Given the description of an element on the screen output the (x, y) to click on. 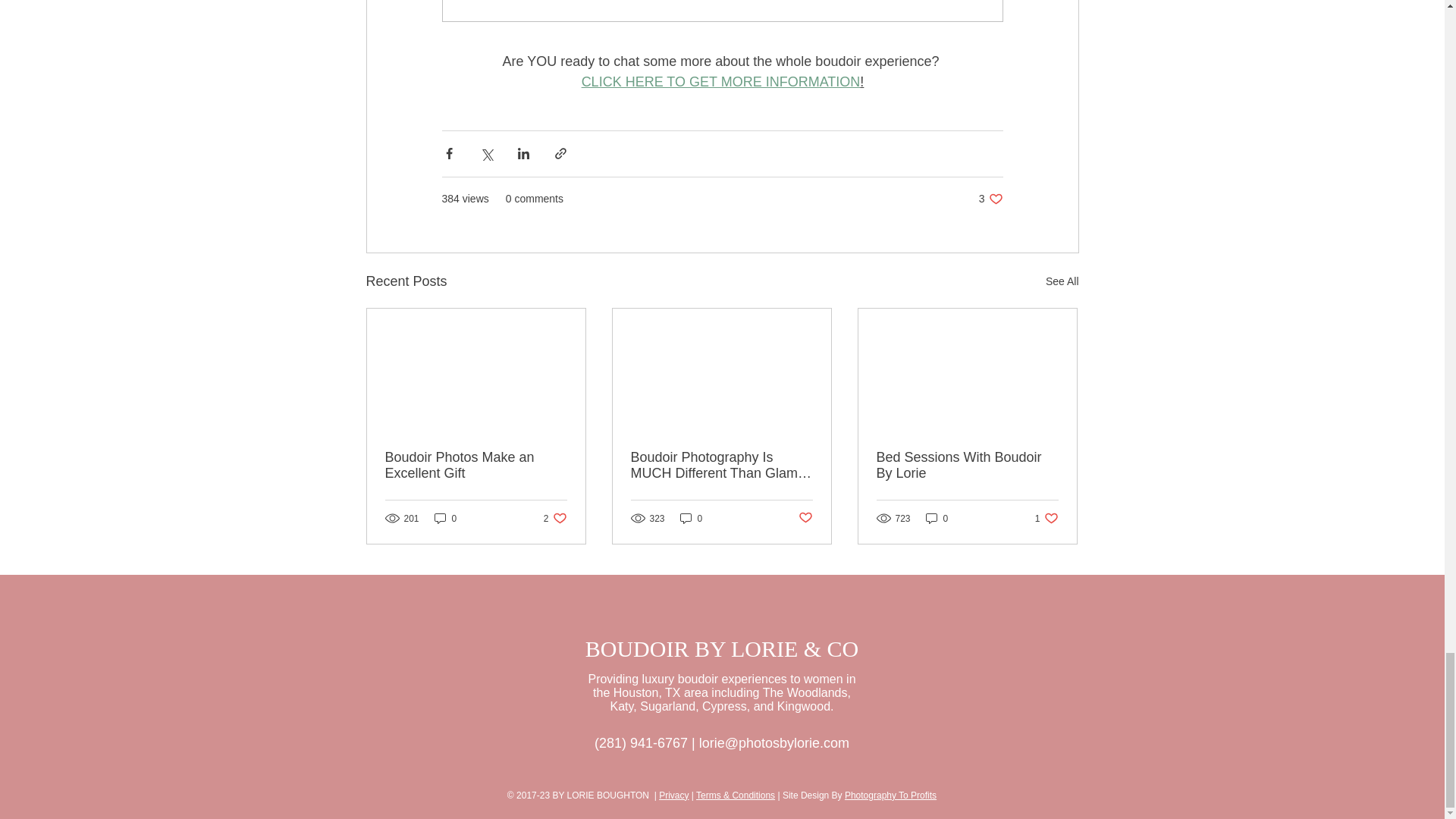
Post not marked as liked (804, 518)
0 (555, 518)
0 (990, 198)
Boudoir Photos Make an Excellent Gift (445, 518)
Privacy (937, 518)
CLICK HERE TO GET MORE INFORMATION (476, 465)
Photography To Profits (673, 795)
Boudoir Photography Is MUCH Different Than Glamor Shots (1046, 518)
0 (720, 81)
Bed Sessions With Boudoir By Lorie (890, 795)
See All (721, 465)
